Given the description of an element on the screen output the (x, y) to click on. 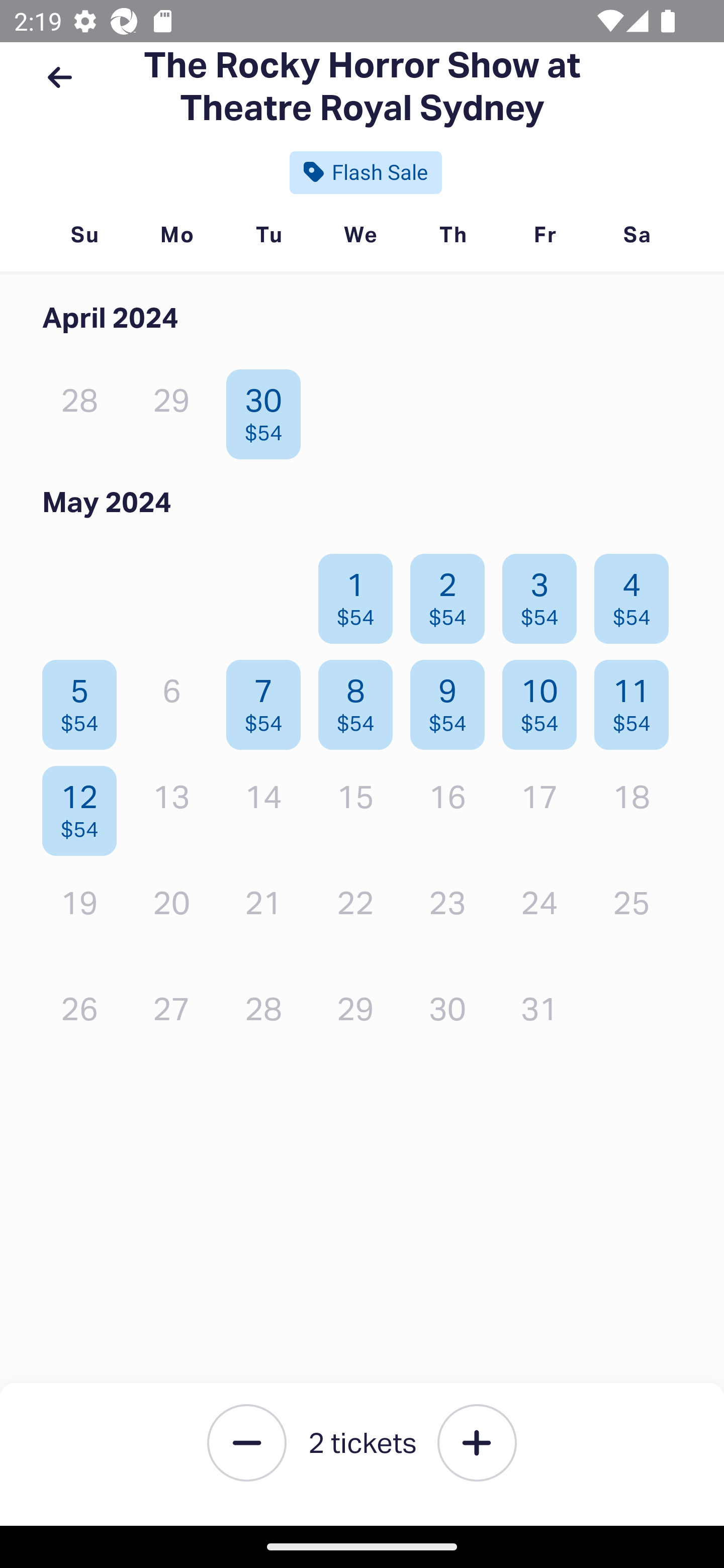
back button (59, 77)
Flash Sale (365, 172)
30 $54 (268, 409)
1 $54 (360, 594)
2 $54 (452, 594)
3 $54 (544, 594)
4 $54 (636, 594)
5 $54 (84, 699)
7 $54 (268, 699)
8 $54 (360, 699)
9 $54 (452, 699)
10 $54 (544, 699)
11 $54 (636, 699)
12 $54 (84, 806)
